Given the description of an element on the screen output the (x, y) to click on. 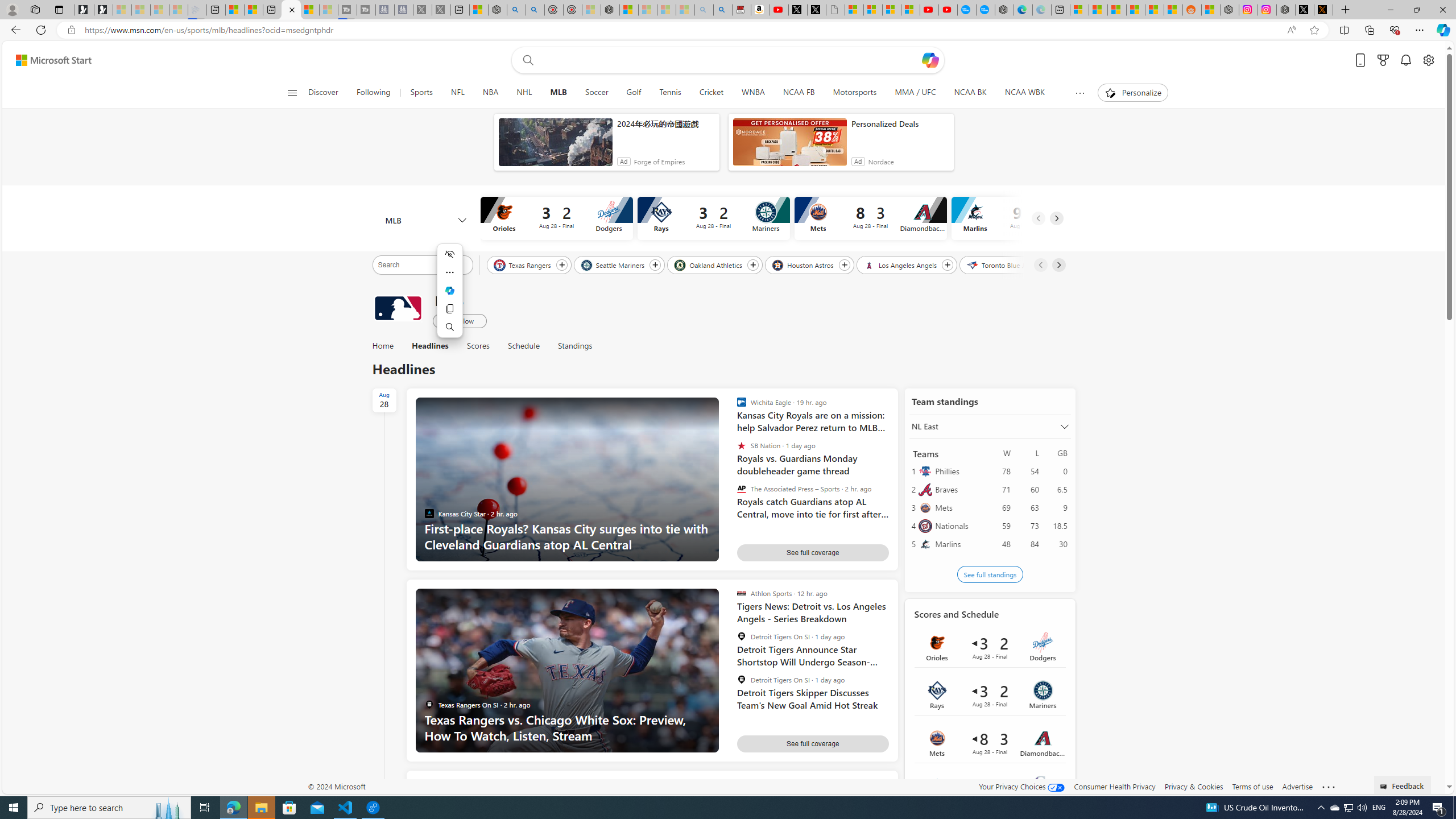
poe - Search (515, 9)
Mets 8 vs Diamondbacks 3Final Date Aug 28 (989, 742)
Scores (478, 345)
Next (1058, 264)
NCAA FB (798, 92)
Orioles 3 vs Dodgers 2Final Date Aug 28 (989, 646)
Follow MLB 2024 (459, 320)
NL East (990, 426)
Class: around-the-league-card (989, 789)
